Given the description of an element on the screen output the (x, y) to click on. 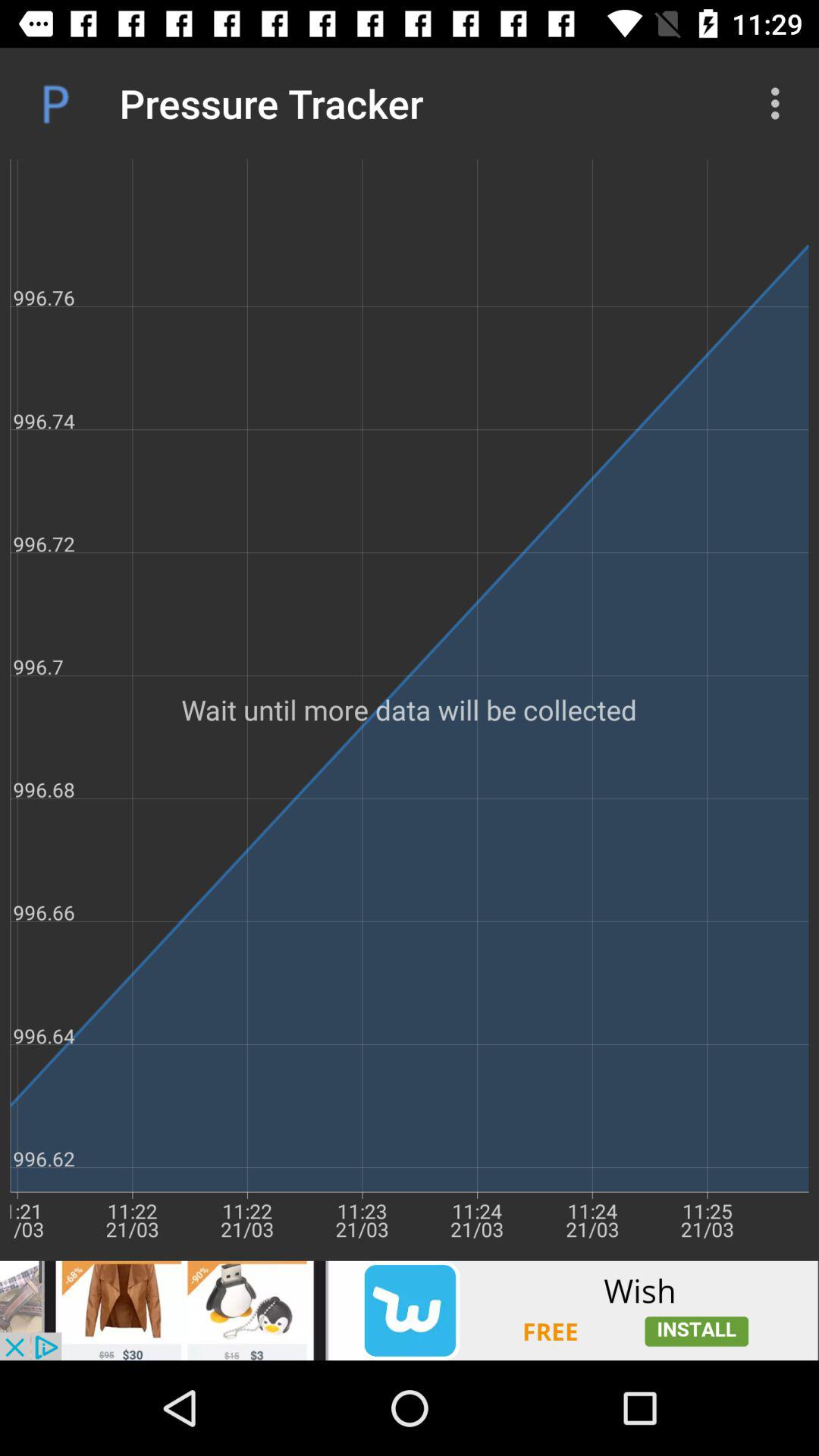
good (409, 1310)
